Given the description of an element on the screen output the (x, y) to click on. 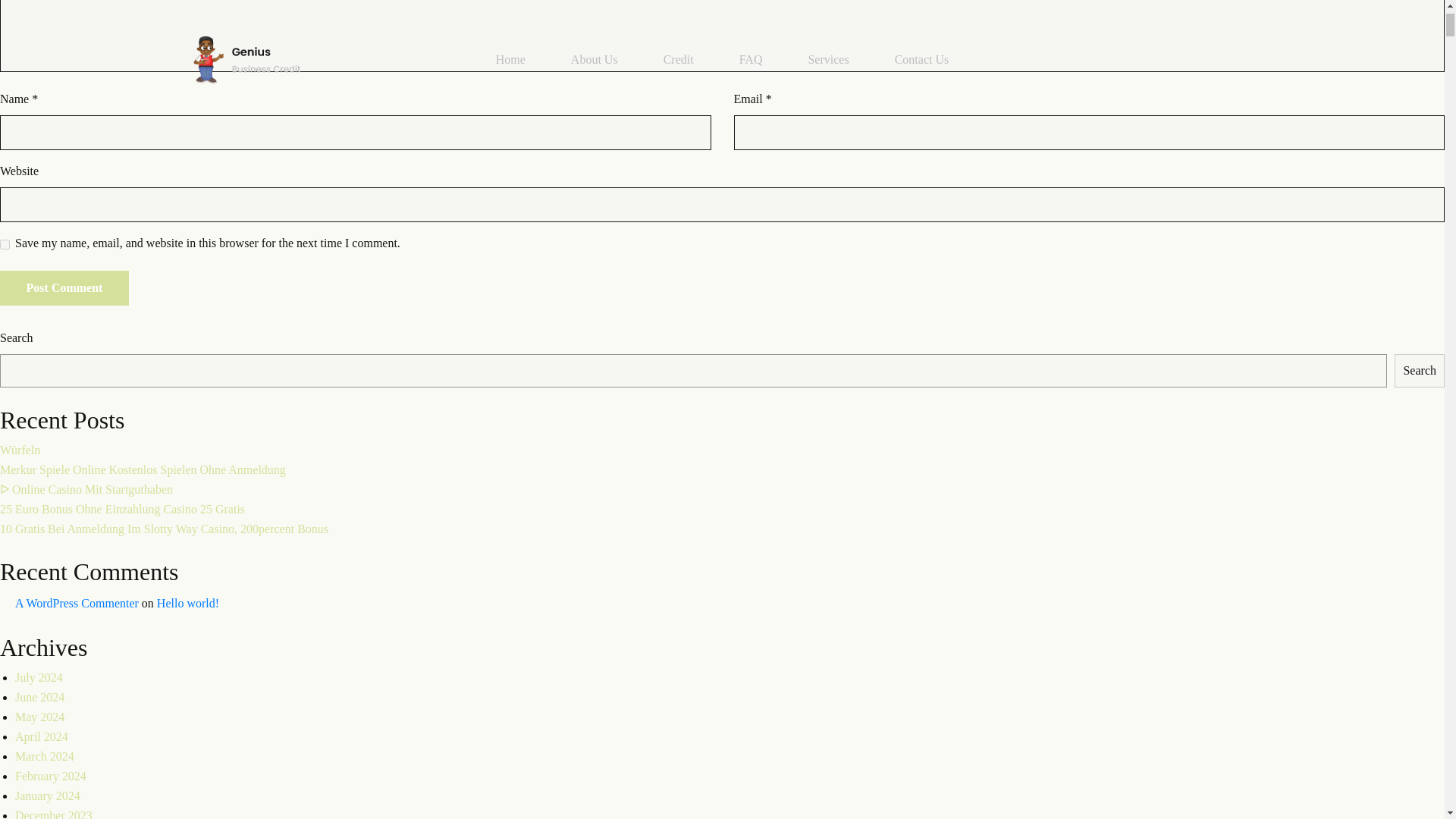
January 2024 (47, 795)
June 2024 (39, 697)
April 2024 (41, 736)
Hello world! (188, 603)
A WordPress Commenter (76, 603)
February 2024 (49, 775)
25 Euro Bonus Ohne Einzahlung Casino 25 Gratis (122, 508)
December 2023 (53, 814)
Post Comment (64, 288)
yes (5, 244)
May 2024 (39, 716)
Post Comment (64, 288)
March 2024 (44, 756)
July 2024 (38, 676)
